Given the description of an element on the screen output the (x, y) to click on. 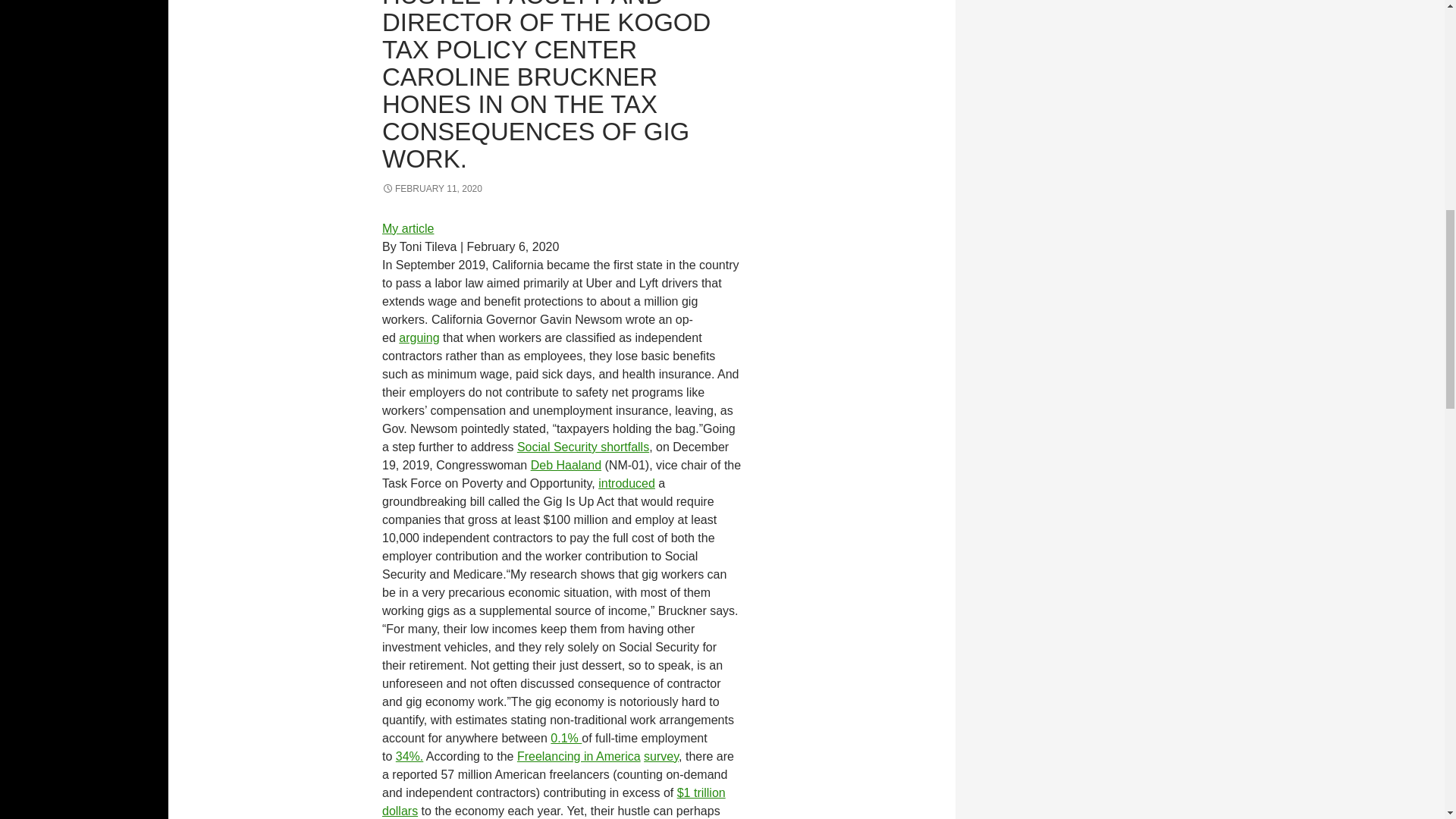
Freelancing in America (578, 756)
FEBRUARY 11, 2020 (431, 188)
introduced (626, 482)
survey (660, 756)
arguing (418, 337)
Social Security shortfalls (582, 446)
My article (407, 228)
Deb Haaland (566, 464)
